Given the description of an element on the screen output the (x, y) to click on. 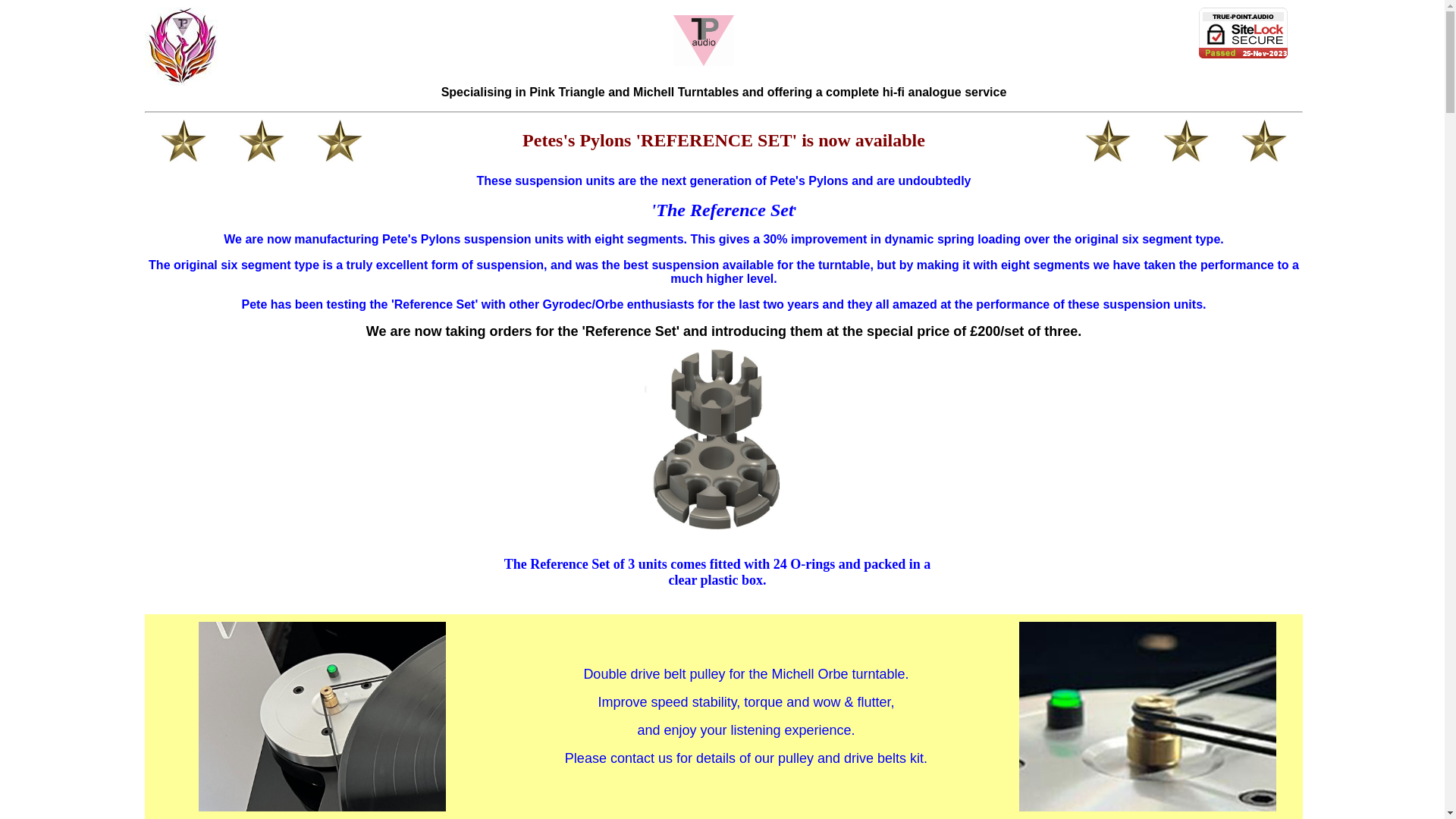
1&1 SiteLock Element type: hover (1242, 32)
